Given the description of an element on the screen output the (x, y) to click on. 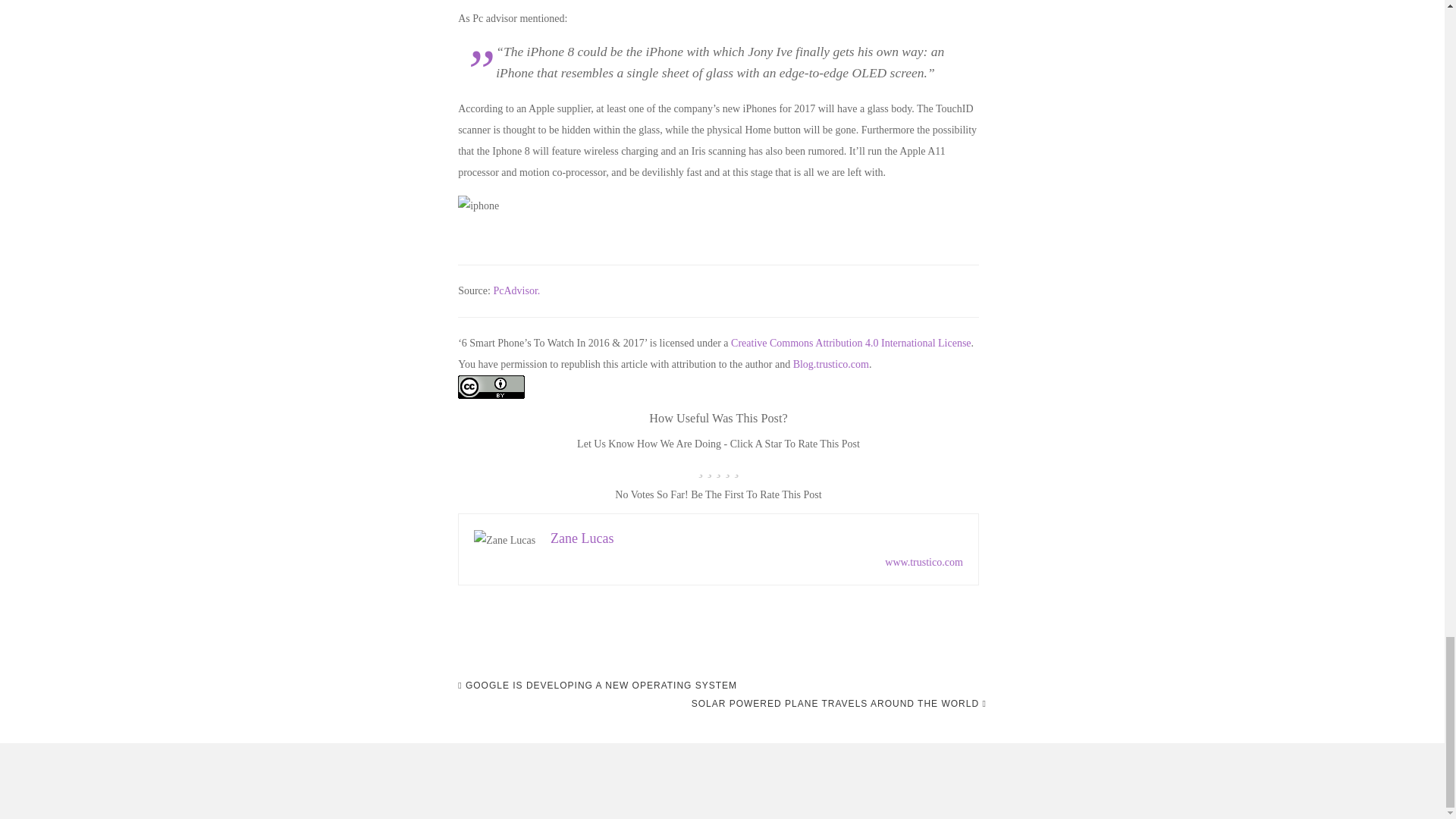
www.trustico.com (923, 562)
GOOGLE IS DEVELOPING A NEW OPERATING SYSTEM (597, 685)
SOLAR POWERED PLANE TRAVELS AROUND THE WORLD (839, 703)
Creative Commons Attribution 4.0 International License (850, 342)
Zane Lucas (581, 538)
PcAdvisor.  (517, 290)
Blog.trustico.com (831, 364)
